Given the description of an element on the screen output the (x, y) to click on. 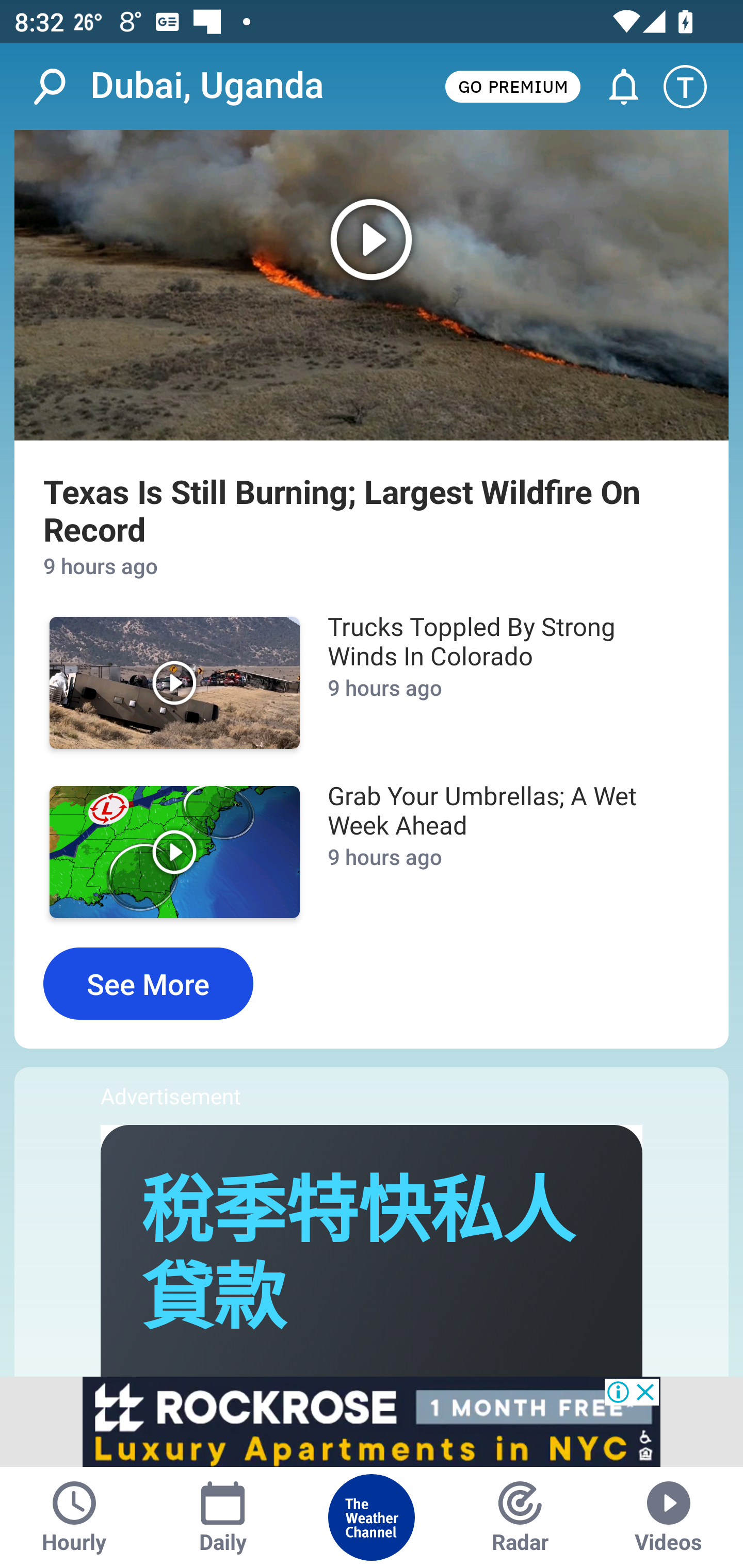
Search (59, 86)
Go to Alerts and Notifications (614, 86)
Setting icon T (694, 86)
Dubai, Uganda (206, 85)
GO PREMIUM (512, 85)
Play (371, 285)
Play (174, 682)
Grab Your Umbrellas; A Wet Week Ahead 9 hours ago (502, 851)
Play (174, 851)
See More (148, 983)
稅季特快私人 貸款 稅季特快私人 貸款 (357, 1255)
Hourly Tab Hourly (74, 1517)
Daily Tab Daily (222, 1517)
Radar Tab Radar (519, 1517)
Videos Tab Videos (668, 1517)
